Given the description of an element on the screen output the (x, y) to click on. 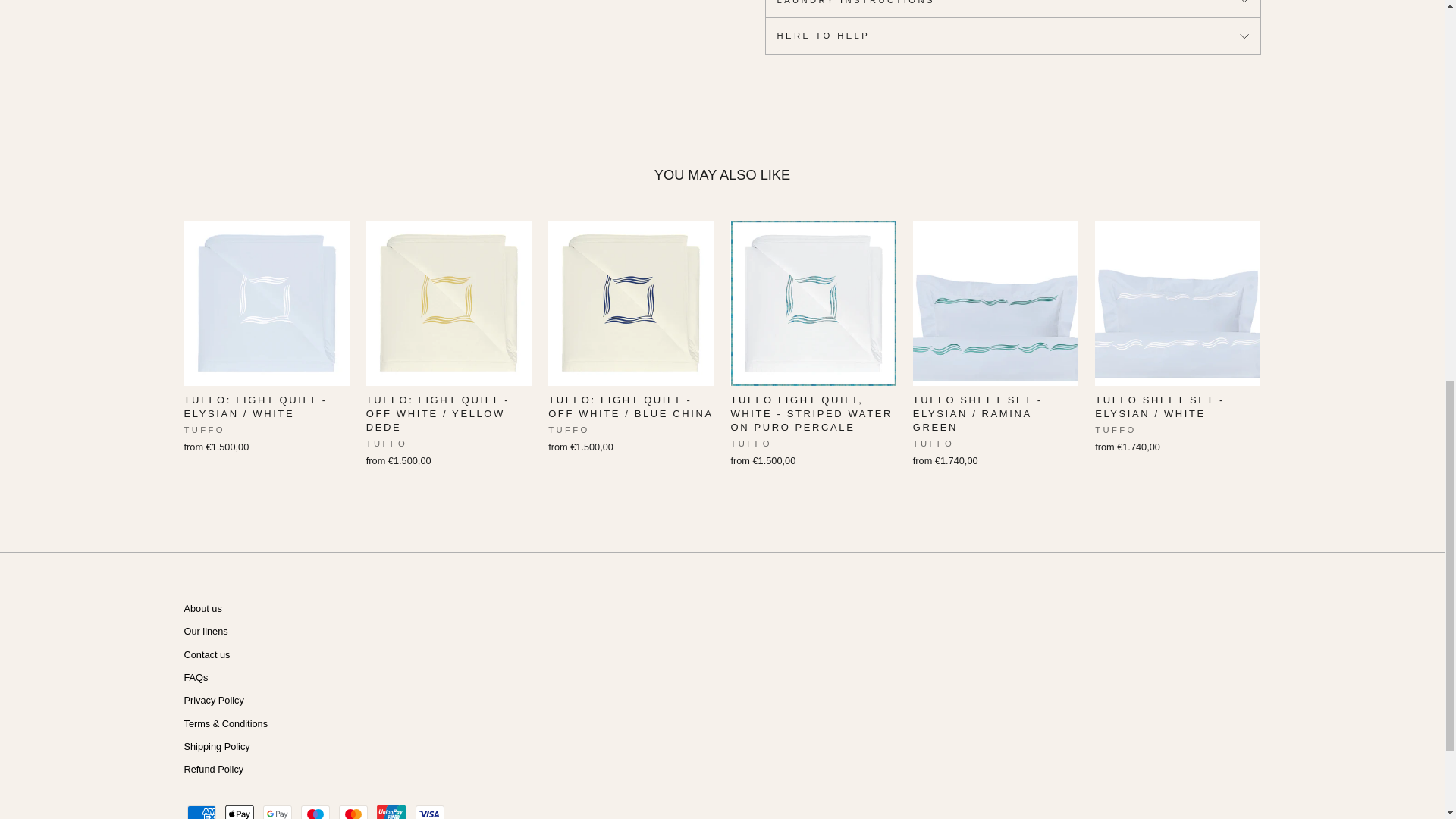
Union Pay (391, 812)
Google Pay (277, 812)
American Express (200, 812)
Mastercard (353, 812)
Apple Pay (239, 812)
Maestro (315, 812)
Visa (429, 812)
